Given the description of an element on the screen output the (x, y) to click on. 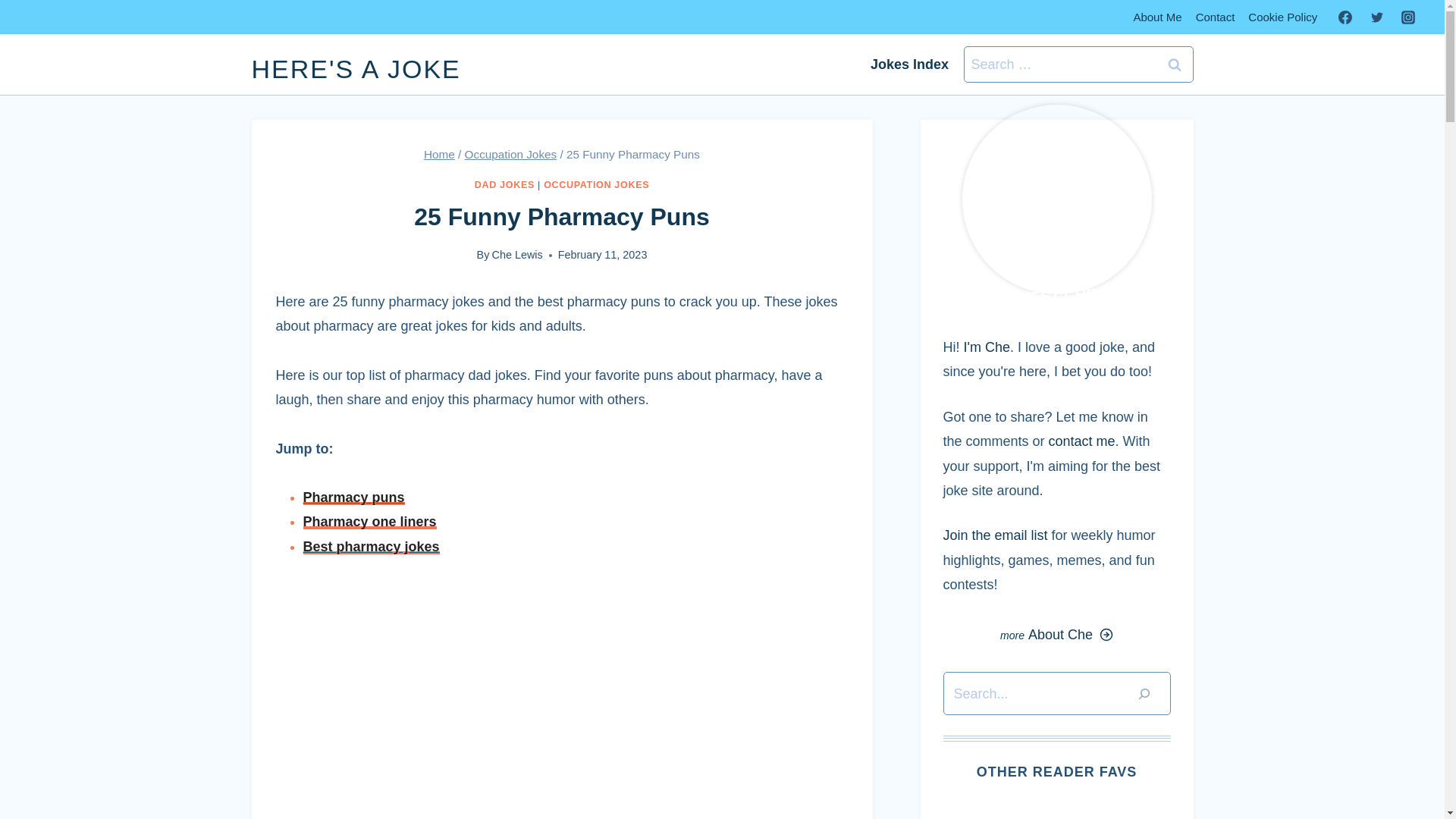
Pharmacy one liners (369, 521)
Contact (1215, 17)
HERE'S A JOKE (356, 68)
OCCUPATION JOKES (596, 184)
Search (1174, 64)
Pharmacy puns (353, 497)
Best pharmacy jokes (370, 546)
DAD JOKES (504, 184)
Search (1174, 64)
Home (438, 154)
Cookie Policy (1282, 17)
Search (1174, 64)
Che Lewis (517, 254)
About Me (1156, 17)
Jokes Index (909, 64)
